Given the description of an element on the screen output the (x, y) to click on. 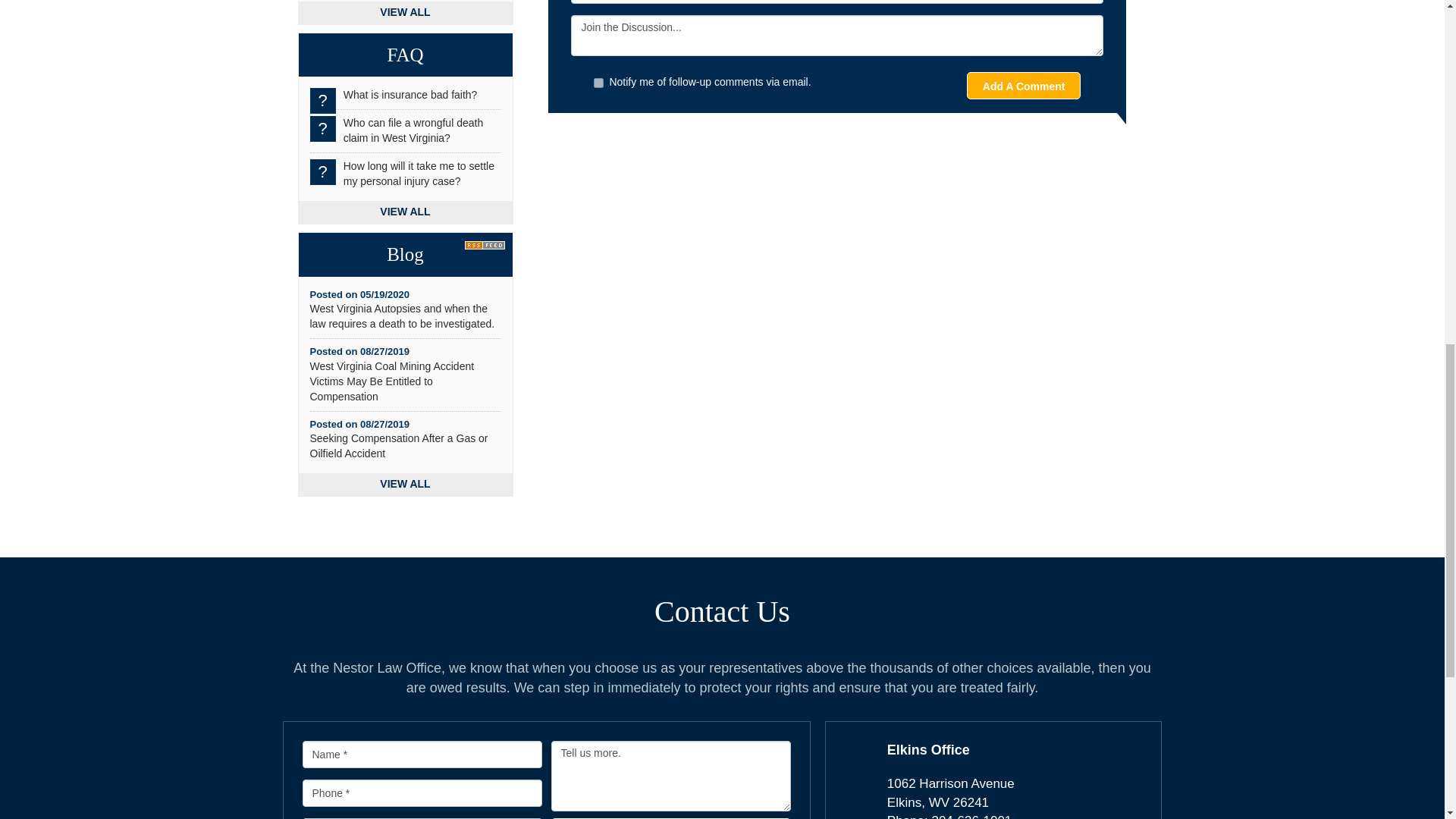
Subscribe to our RSS Feed (488, 242)
Blog (413, 130)
1 (404, 254)
Seeking Compensation After a Gas or Oilfield Accident (599, 82)
FAQ (397, 445)
VIEW ALL (410, 94)
VIEW ALL (404, 55)
